Given the description of an element on the screen output the (x, y) to click on. 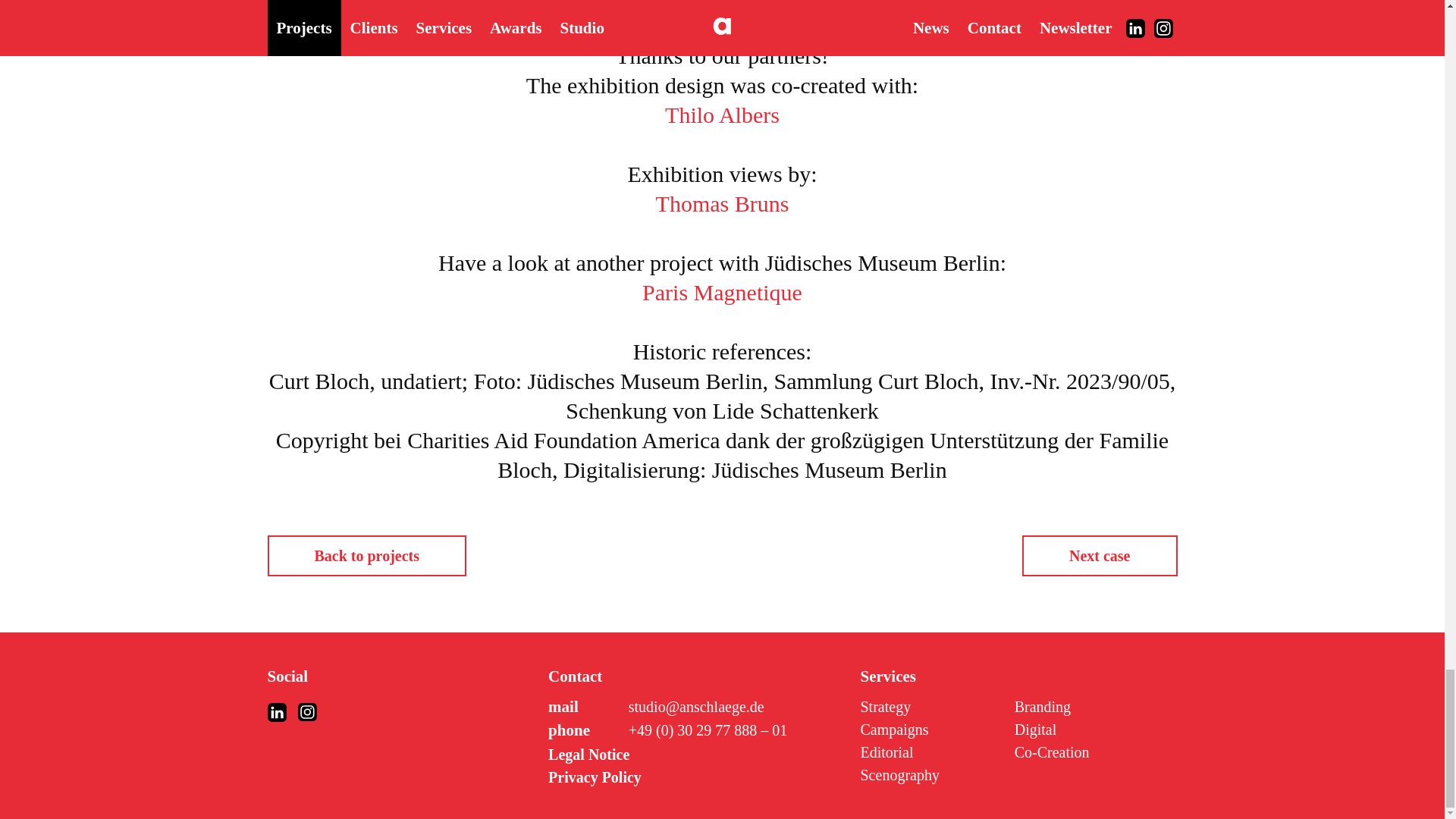
Paris Magnetique (720, 292)
Thomas Bruns (720, 203)
Thilo Albers (720, 114)
